Given the description of an element on the screen output the (x, y) to click on. 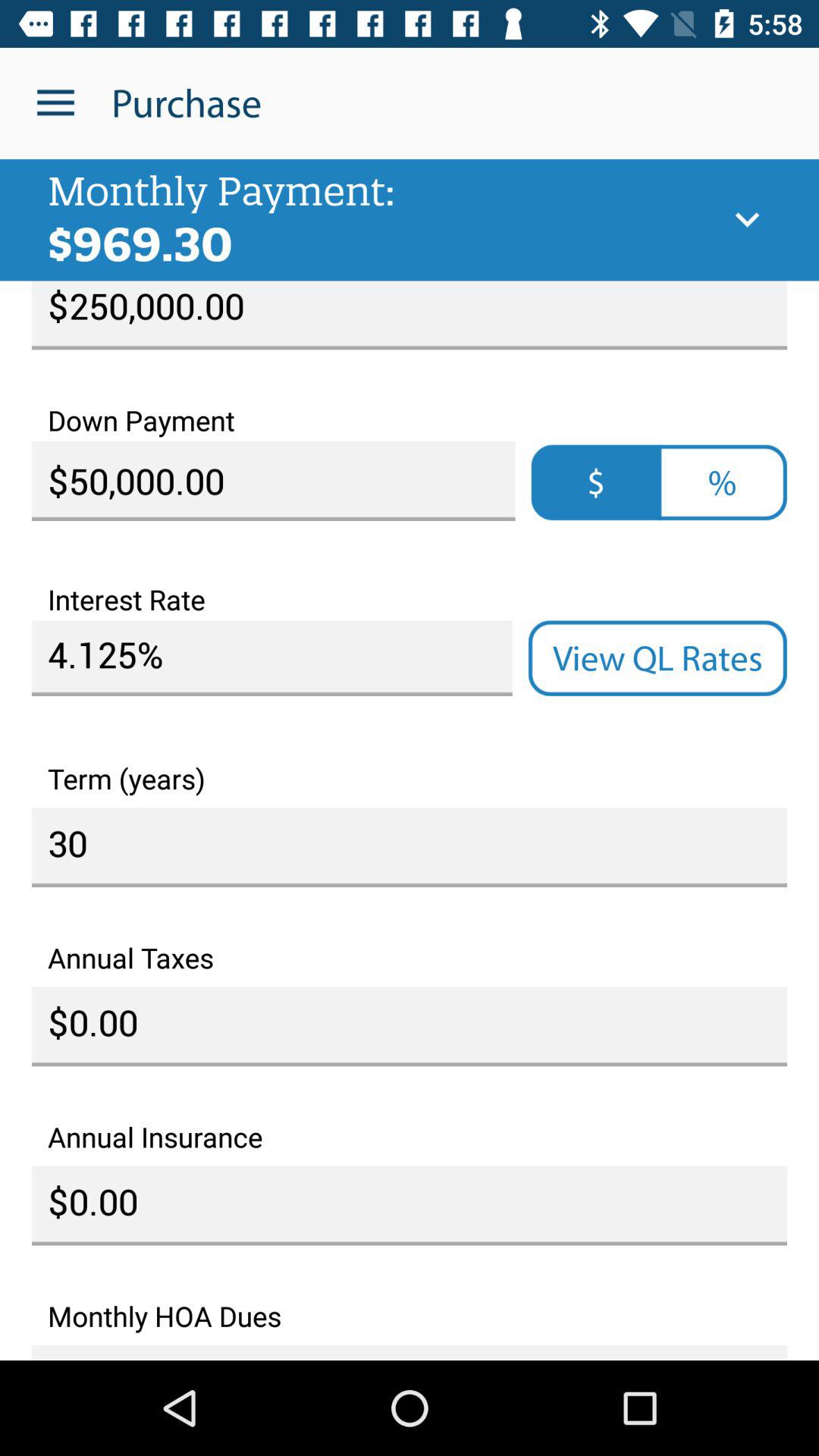
select icon to the left of purchase (55, 103)
